Given the description of an element on the screen output the (x, y) to click on. 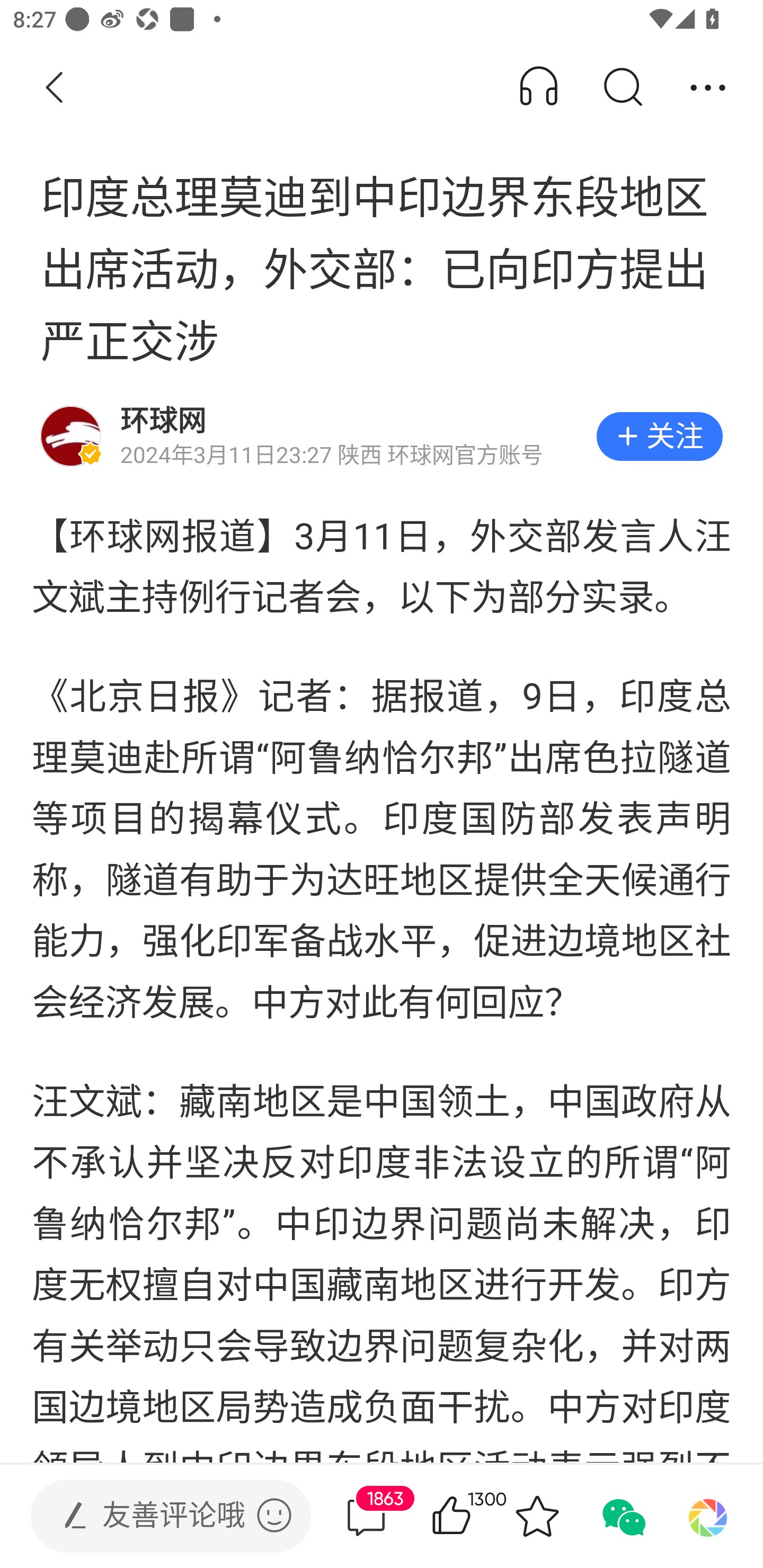
搜索  (622, 87)
分享  (707, 87)
 返回 (54, 87)
环球网 2024年3月11日23:27 陕西 环球网官方账号  关注 (381, 436)
 关注 (659, 436)
发表评论  友善评论哦 发表评论  (155, 1516)
1863评论  1863 评论 (365, 1516)
1300赞 (476, 1516)
收藏  (536, 1516)
分享到微信  (622, 1516)
分享到朋友圈 (707, 1516)
 (274, 1515)
